Given the description of an element on the screen output the (x, y) to click on. 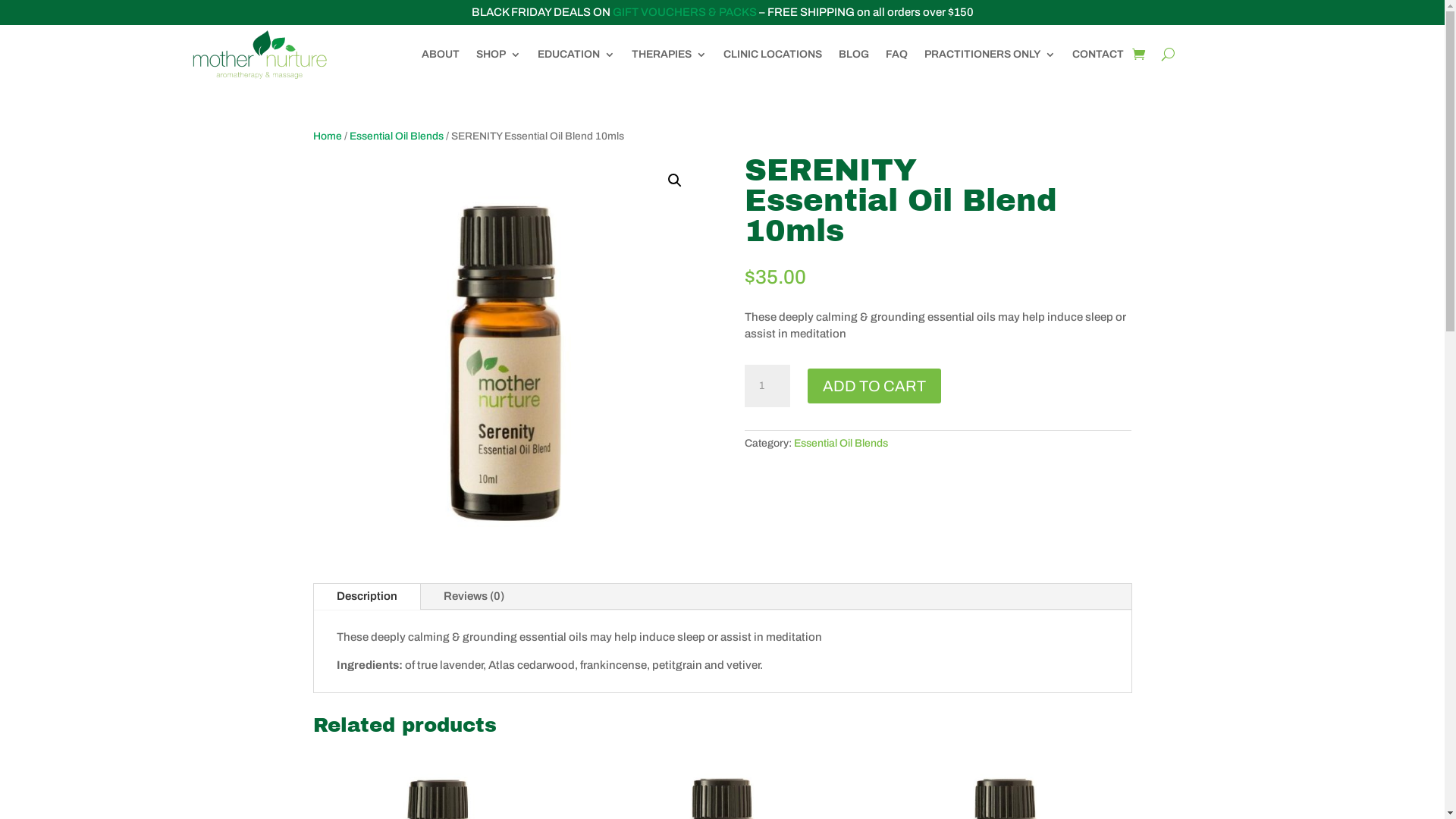
ABOUT Element type: text (440, 54)
ADD TO CART Element type: text (874, 385)
CLINIC LOCATIONS Element type: text (772, 54)
Essential Oil Blends Element type: text (395, 135)
serenity Element type: hover (505, 348)
FAQ Element type: text (896, 54)
Reviews (0) Element type: text (473, 596)
PRACTITIONERS ONLY Element type: text (988, 54)
EDUCATION Element type: text (575, 54)
CONTACT Element type: text (1097, 54)
SHOP Element type: text (498, 54)
Essential Oil Blends Element type: text (840, 442)
BLOG Element type: text (853, 54)
Home Element type: text (326, 135)
GIFT VOUCHERS & PACKS Element type: text (684, 12)
THERAPIES Element type: text (668, 54)
Description Element type: text (366, 596)
